Given the description of an element on the screen output the (x, y) to click on. 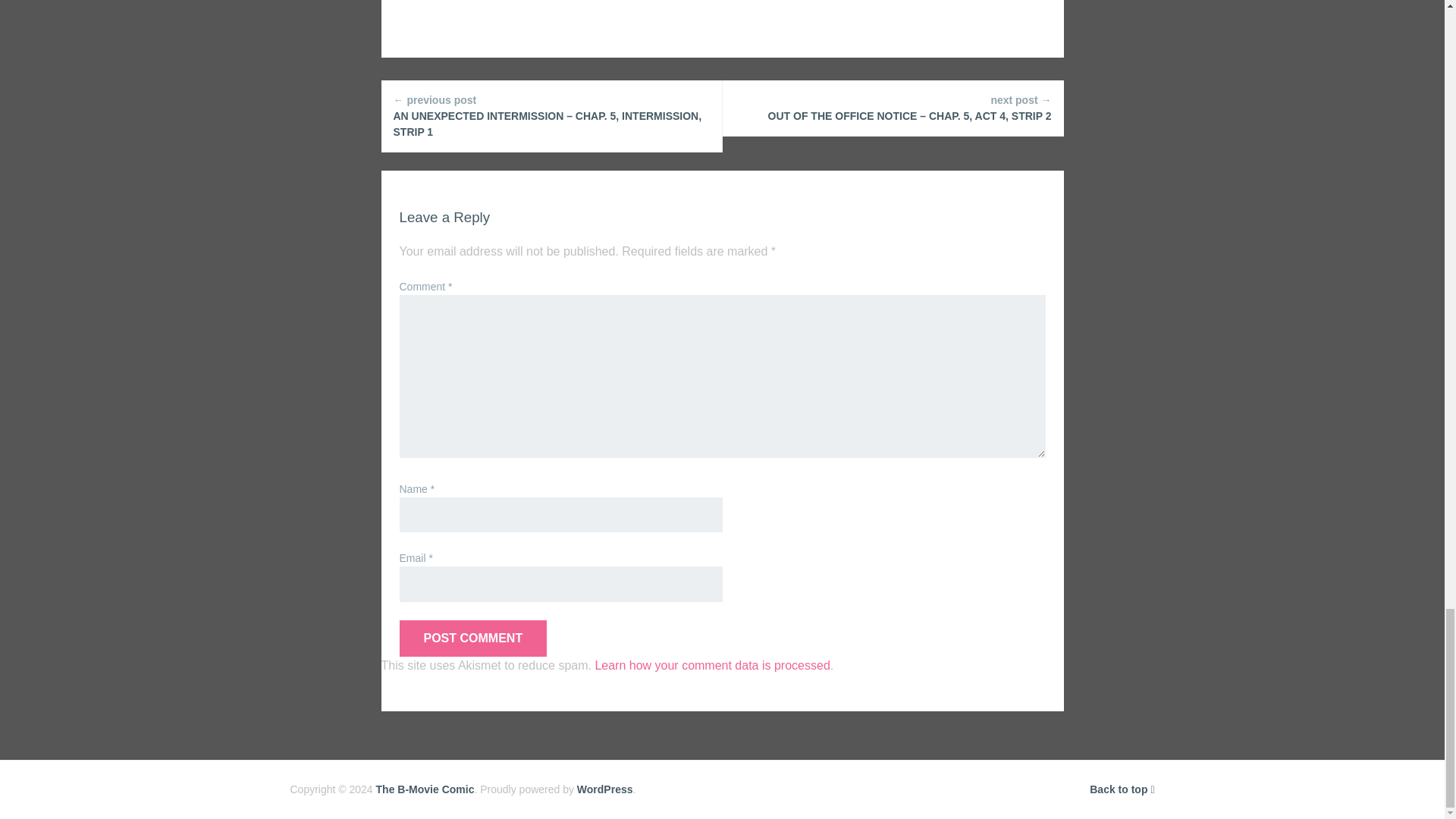
The B-Movie Comic (424, 788)
Post Comment (472, 637)
WordPress (604, 788)
Back to top (1121, 789)
Post Comment (472, 637)
Learn how your comment data is processed (711, 665)
